Given the description of an element on the screen output the (x, y) to click on. 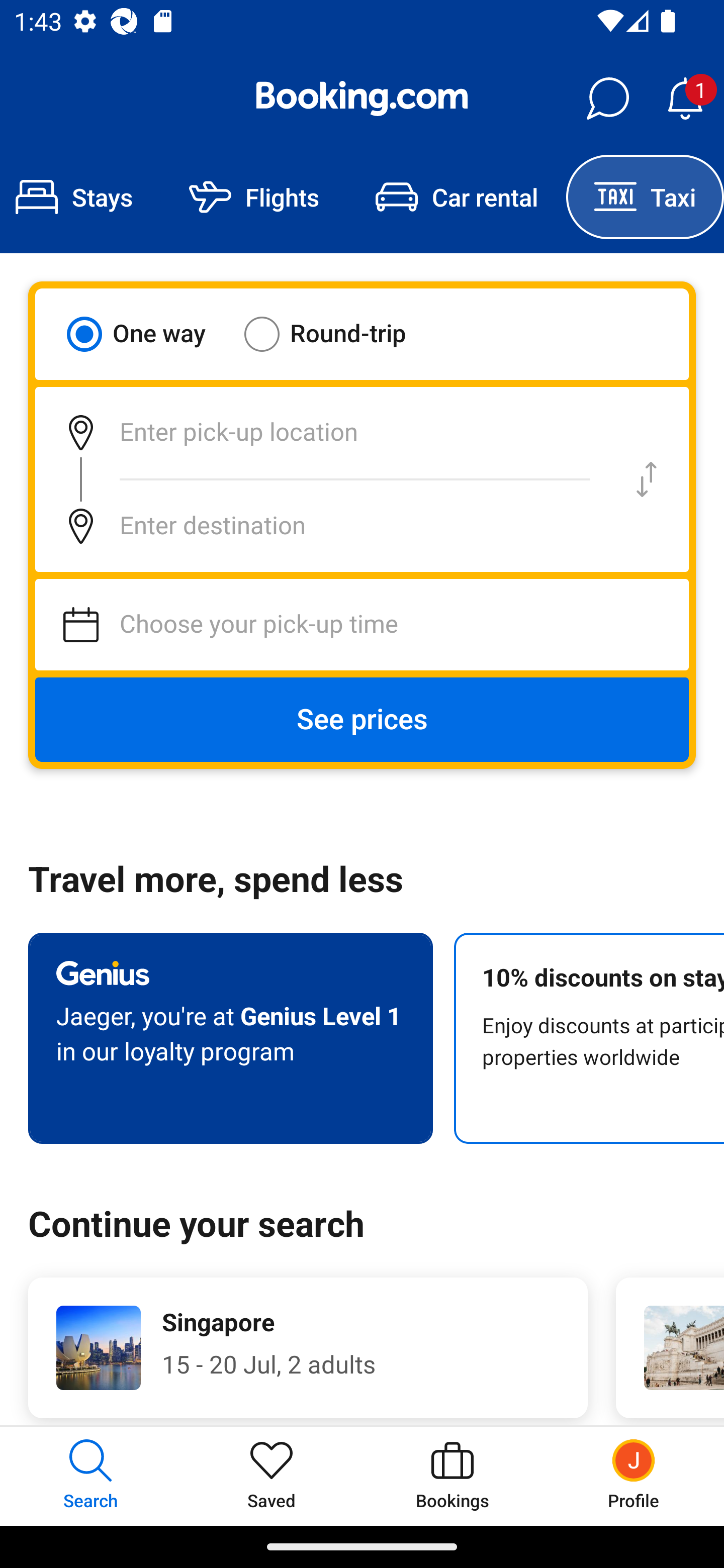
Messages (607, 98)
Notifications (685, 98)
Stays (80, 197)
Flights (253, 197)
Car rental (456, 197)
Taxi (645, 197)
Round-trip (337, 333)
Enter pick-up location (319, 432)
Swap pick-up location and destination (646, 479)
Enter destination (319, 525)
Choose your pick-up time (361, 624)
See prices (361, 719)
Singapore 15 - 20 Jul, 2 adults (307, 1347)
Saved (271, 1475)
Bookings (452, 1475)
Profile (633, 1475)
